Given the description of an element on the screen output the (x, y) to click on. 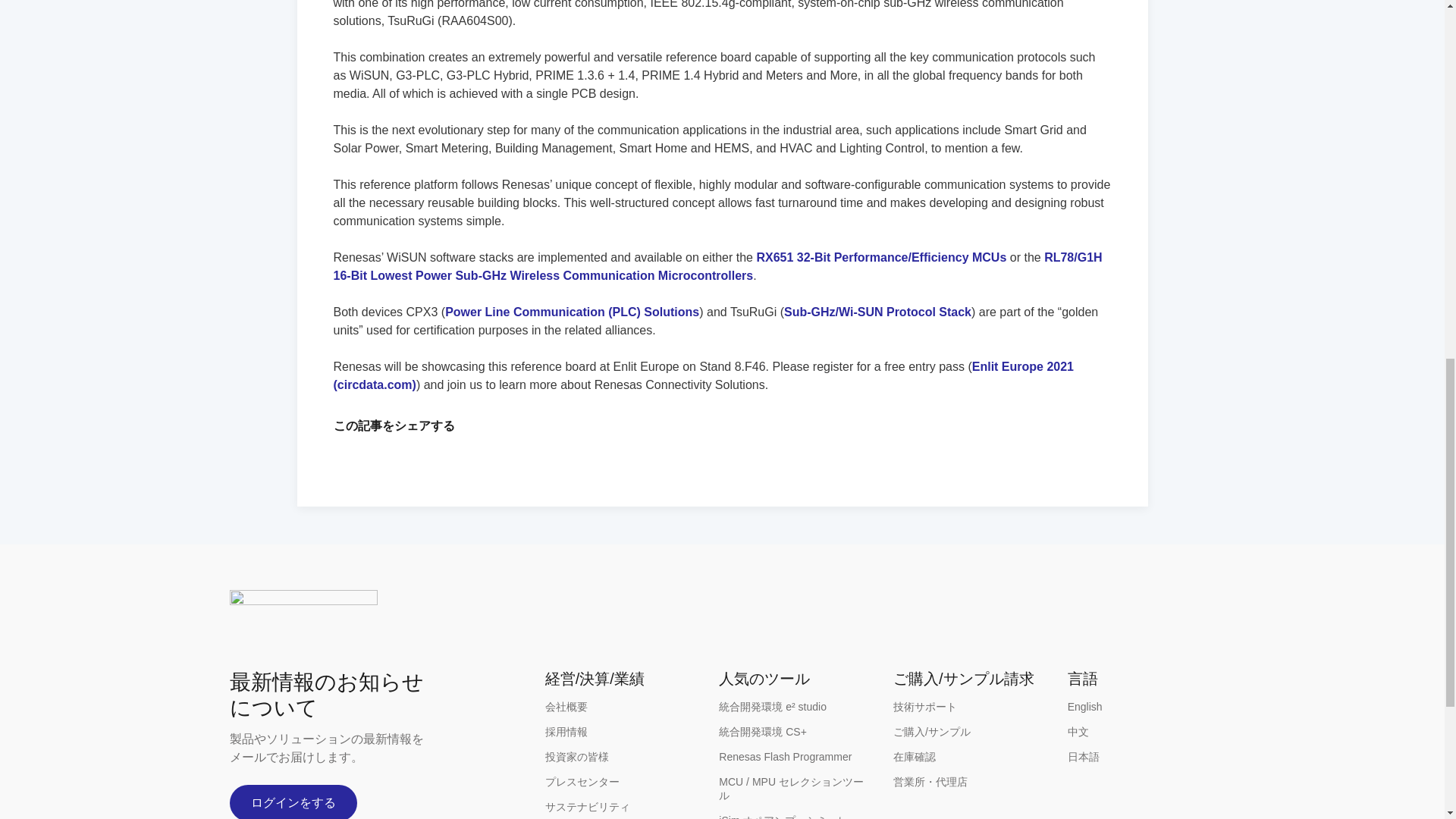
Lowest Power Sub-GHz Wireless Communication Microcontrollers (717, 265)
